Given the description of an element on the screen output the (x, y) to click on. 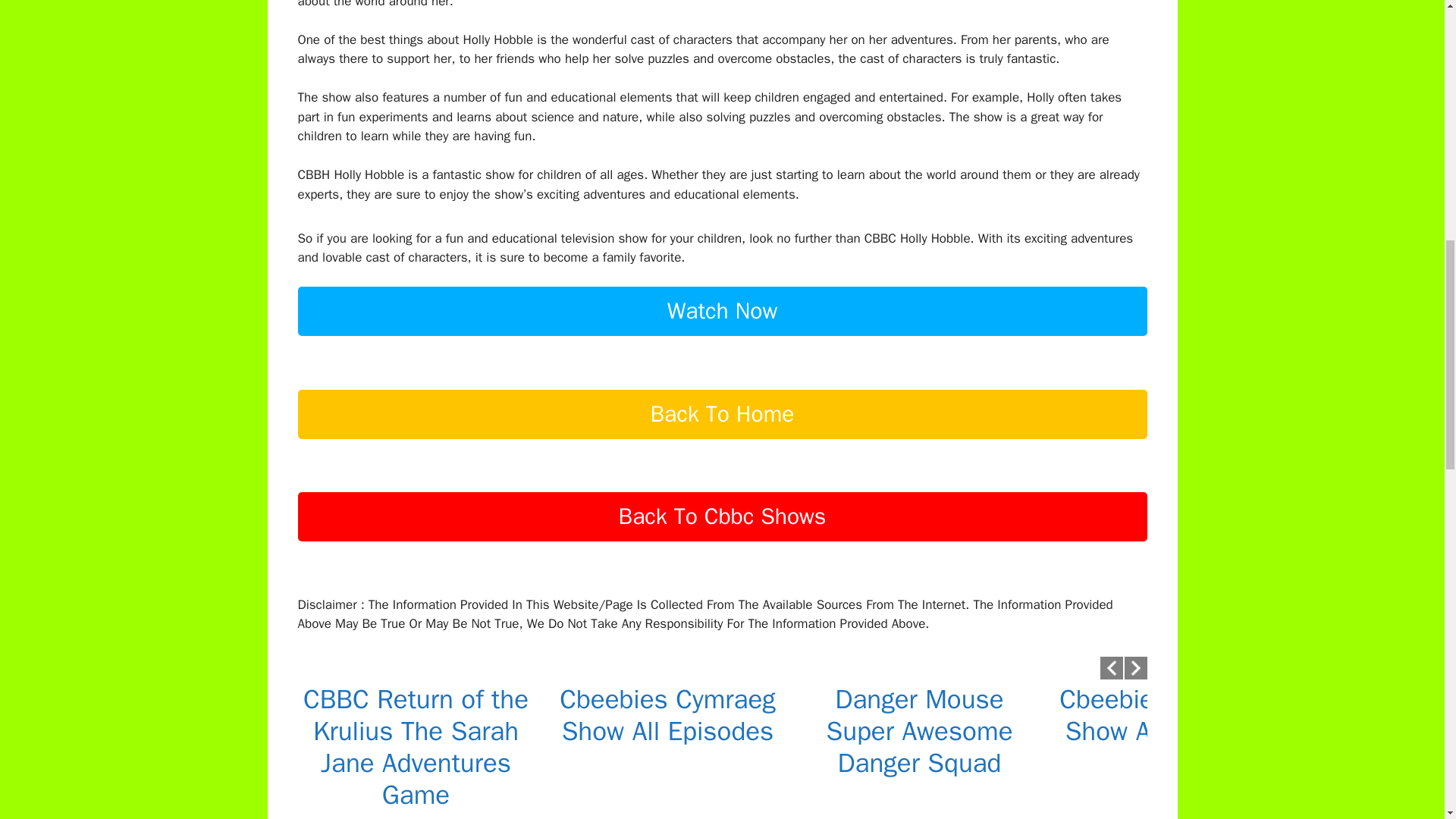
Back To Cbbc Shows (722, 542)
CBBC Return of the Krulius The Sarah Jane Adventures Game (415, 746)
Watch Now (722, 336)
Danger Mouse Super Awesome Danger Squad (918, 730)
Cbeebies Biggleton Show All Episodes (1170, 714)
Cbeebies Cymraeg Show All Episodes (667, 714)
Back To Home (722, 439)
Previous (1110, 667)
